Given the description of an element on the screen output the (x, y) to click on. 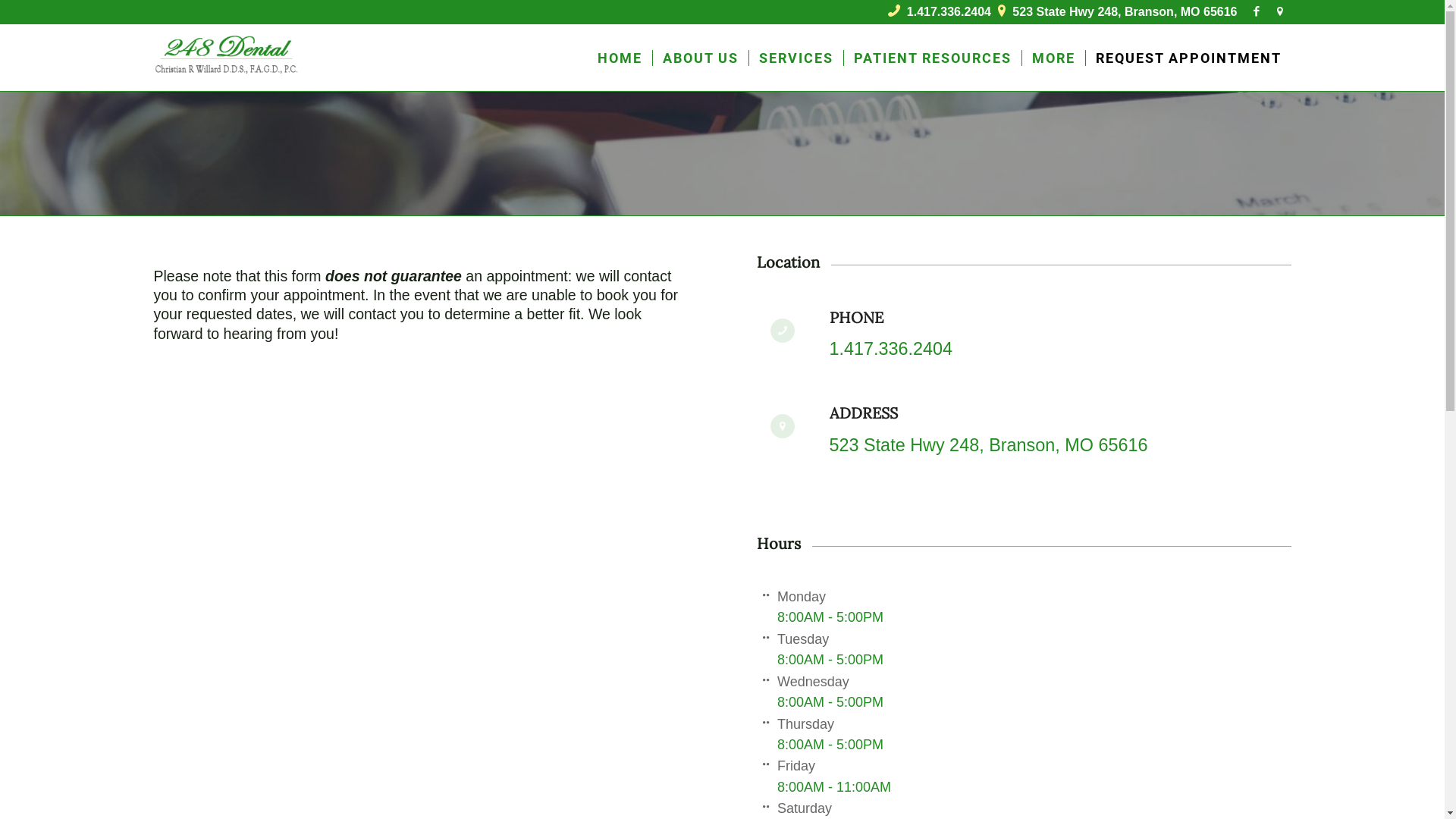
Facebook Element type: hover (1256, 11)
523 State Hwy 248, Branson, MO 65616 Element type: text (988, 445)
SERVICES Element type: text (794, 57)
HOME Element type: text (618, 57)
MORE Element type: text (1052, 57)
REQUEST APPOINTMENT Element type: text (1187, 57)
Icon_name Element type: hover (1278, 11)
PATIENT RESOURCES Element type: text (932, 57)
ABOUT US Element type: text (700, 57)
1.417.336.2404 Element type: text (891, 348)
